Given the description of an element on the screen output the (x, y) to click on. 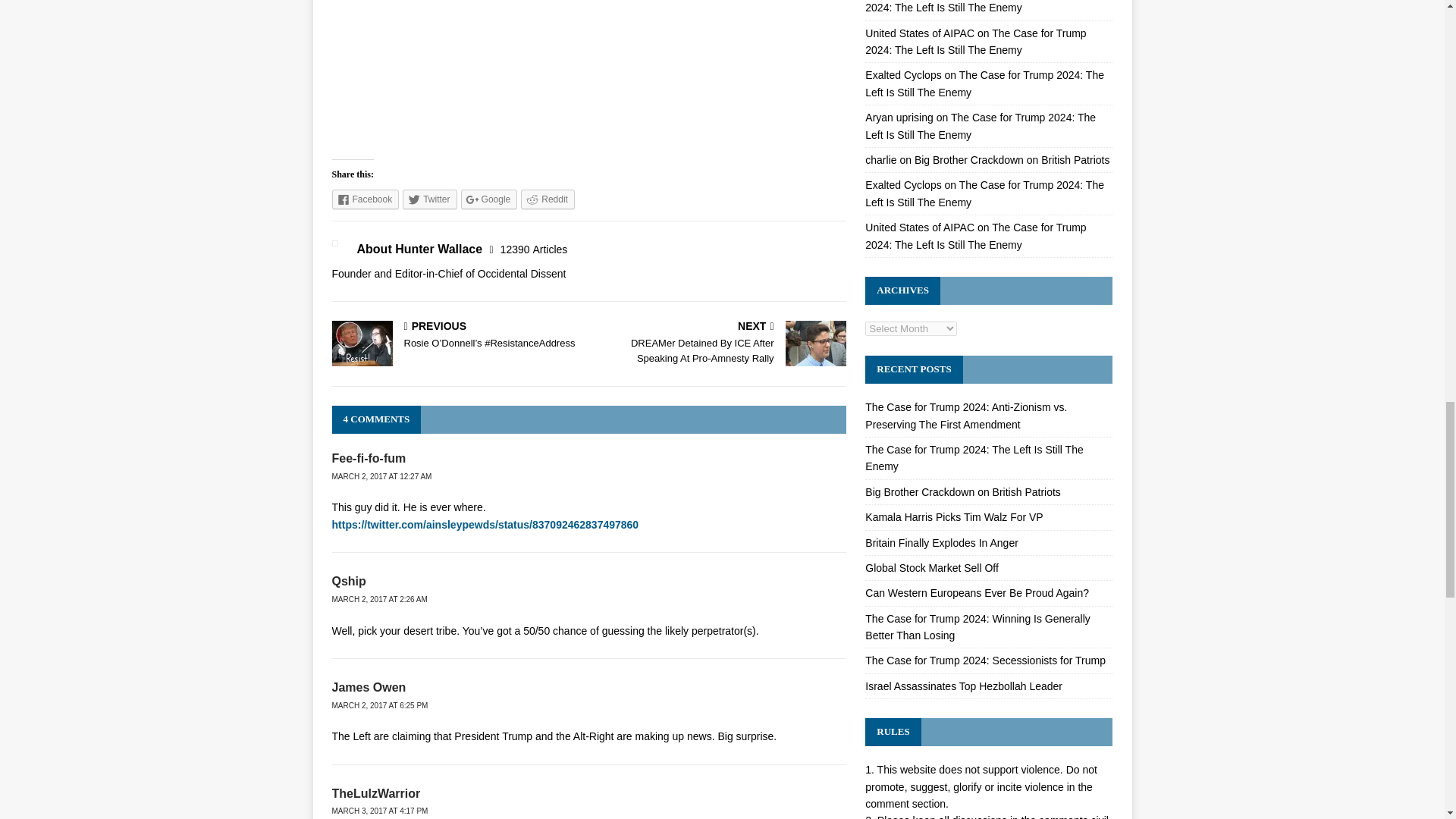
Twitter (430, 199)
Click to share on Twitter (430, 199)
Facebook (364, 199)
More articles written by Hunter Wallace' (533, 249)
Click to share on Reddit (548, 199)
Google (489, 199)
Click to share on Facebook (364, 199)
